Given the description of an element on the screen output the (x, y) to click on. 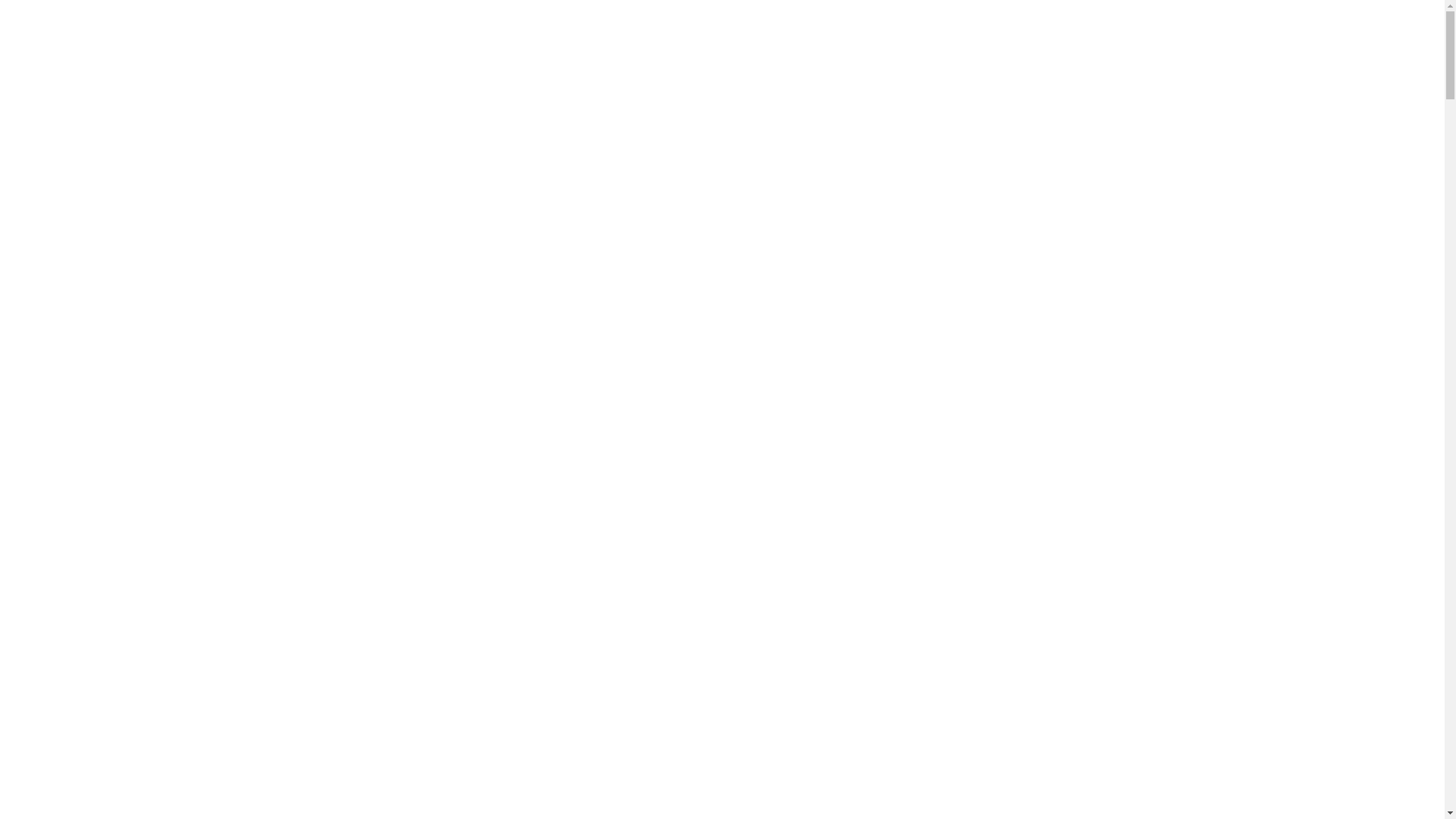
KONTAKT Element type: text (1318, 37)
MEHR INFO Element type: text (721, 479)
ARCHITEKTUR Element type: text (804, 37)
VISUALISIERUNG Element type: text (1014, 37)
